Given the description of an element on the screen output the (x, y) to click on. 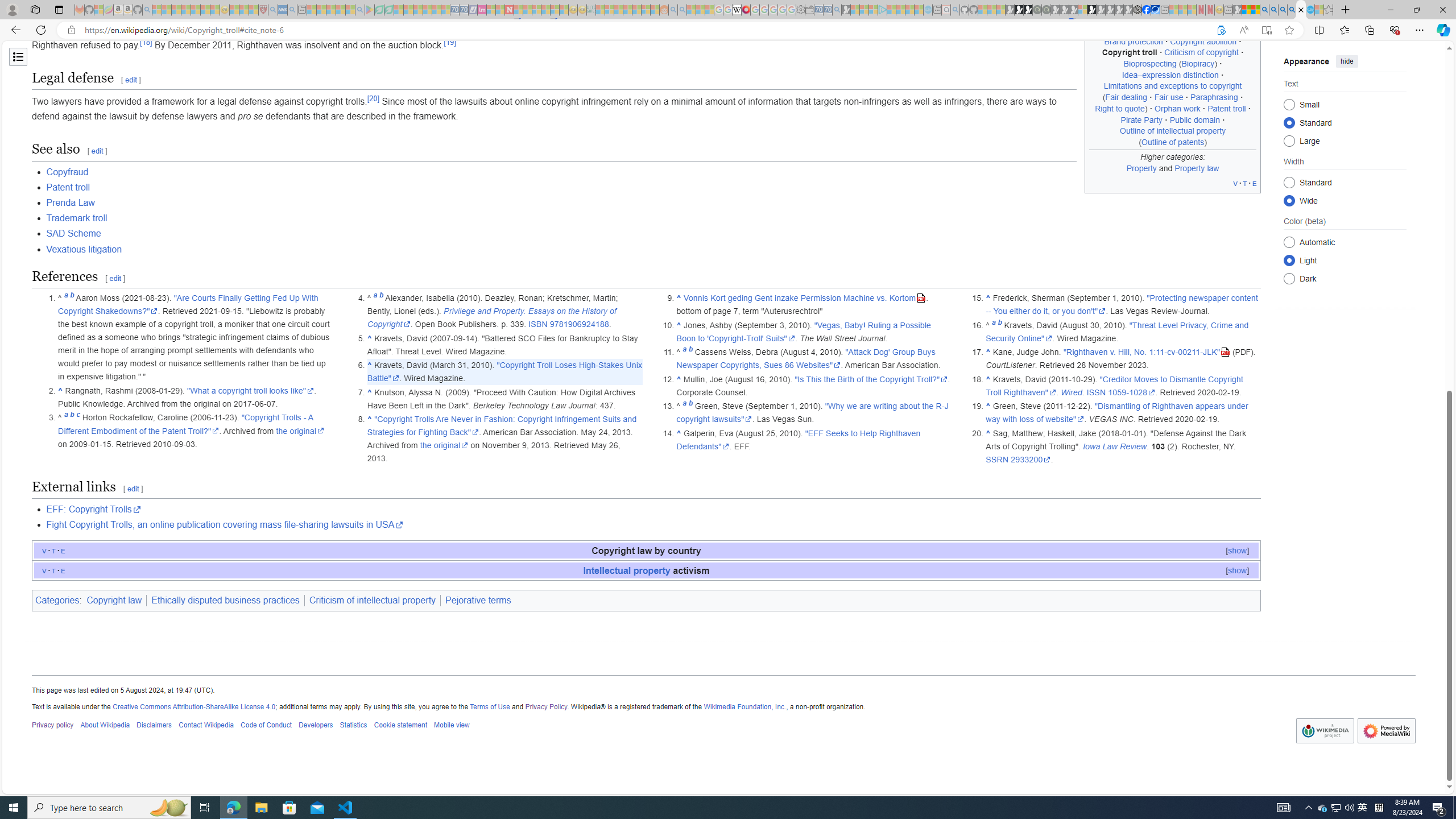
MSN - Sleeping (1236, 9)
Public domain (1194, 119)
Right to quote) (1120, 108)
Large (1289, 140)
Brand protection (1133, 40)
Contact Wikipedia (206, 725)
Future Focus Report 2024 - Sleeping (1045, 9)
edit (132, 488)
